Given the description of an element on the screen output the (x, y) to click on. 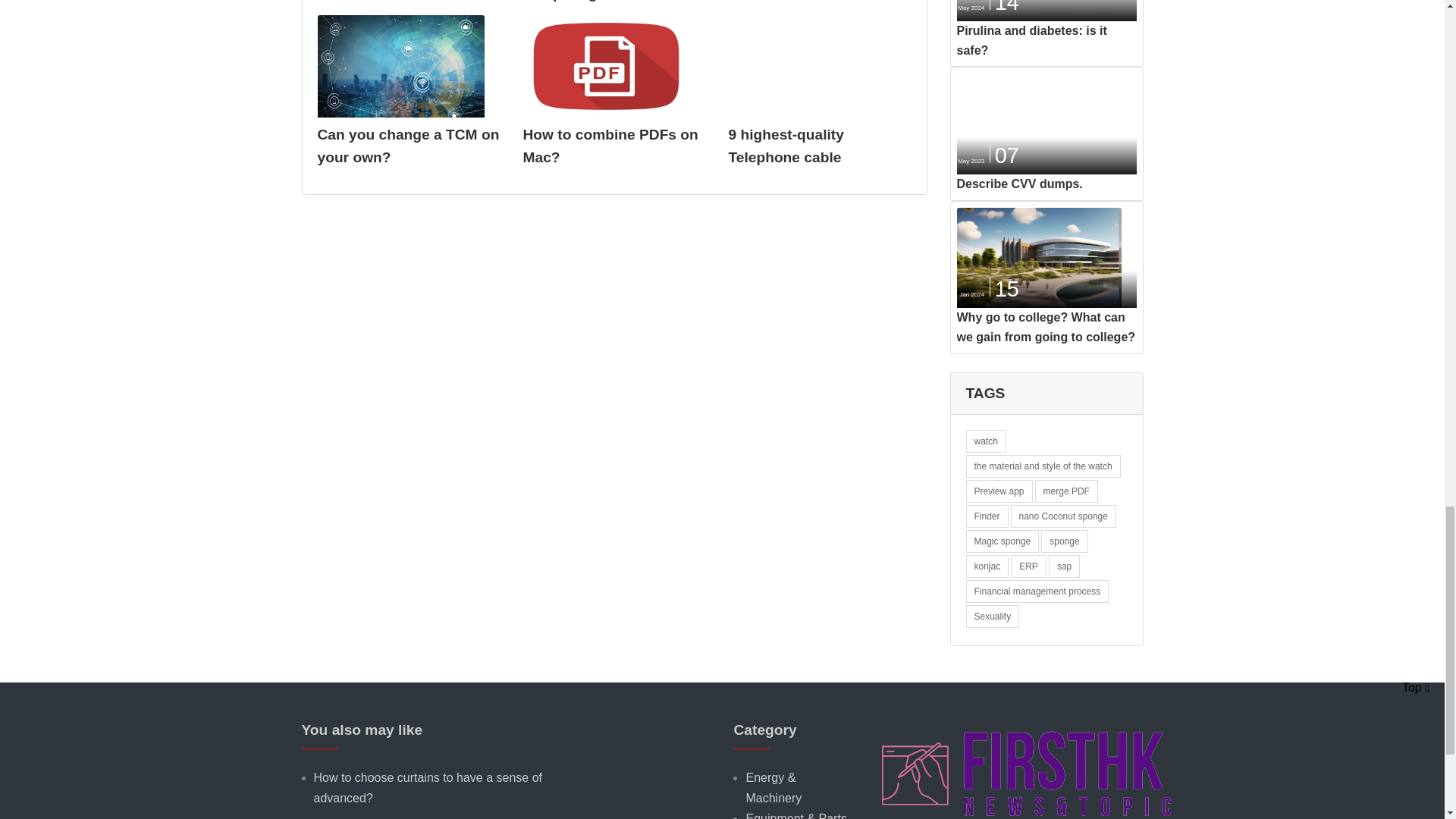
How to combine PDFs on Mac? (609, 146)
Can you change a TCM on your own? (408, 146)
9 highest-quality Telephone cable (785, 146)
